Given the description of an element on the screen output the (x, y) to click on. 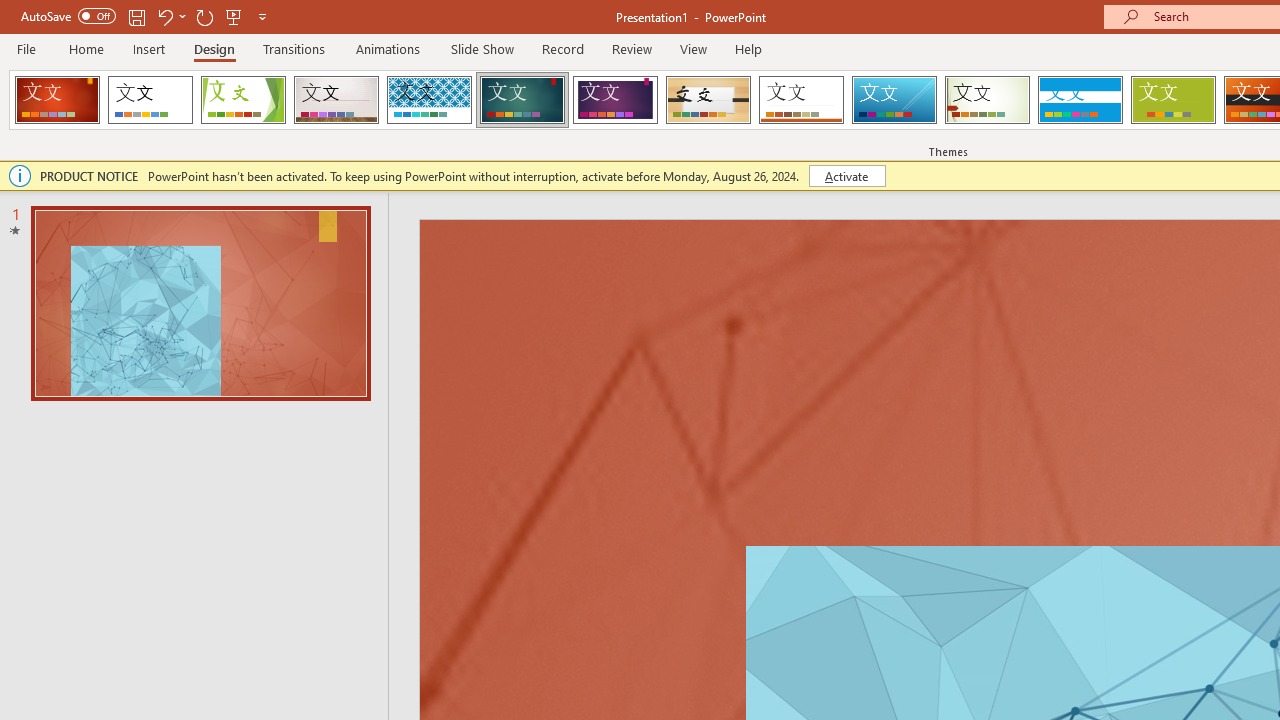
FadeVTI (57, 100)
Organic (708, 100)
Integral (429, 100)
